Given the description of an element on the screen output the (x, y) to click on. 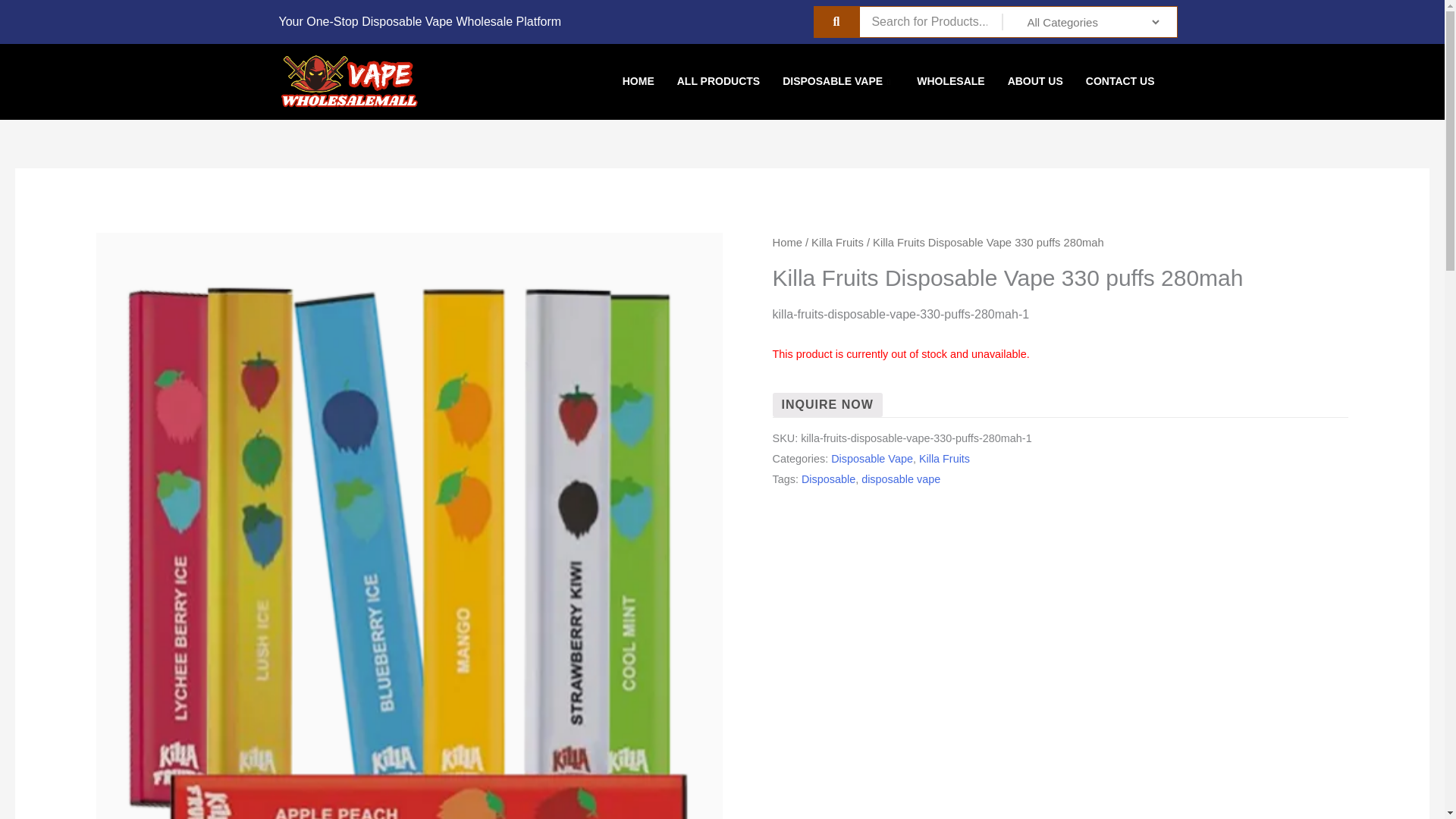
ALL PRODUCTS (718, 81)
HOME (638, 81)
DISPOSABLE VAPE (838, 81)
Killa Fruits Disposable Vape 330 puffs 280mah (827, 404)
